Given the description of an element on the screen output the (x, y) to click on. 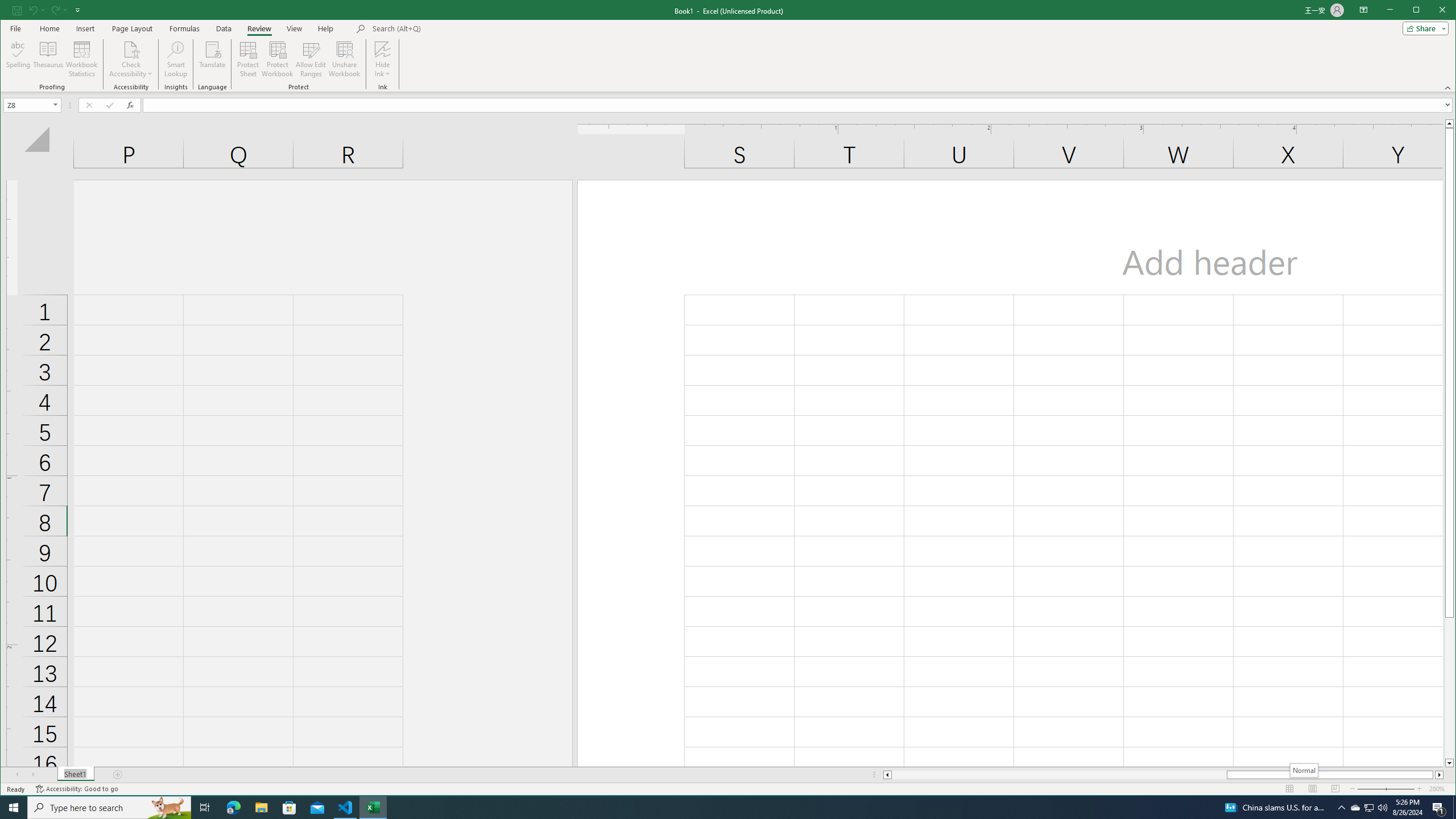
Protect Workbook... (277, 59)
Q2790: 100% (1382, 807)
